Given the description of an element on the screen output the (x, y) to click on. 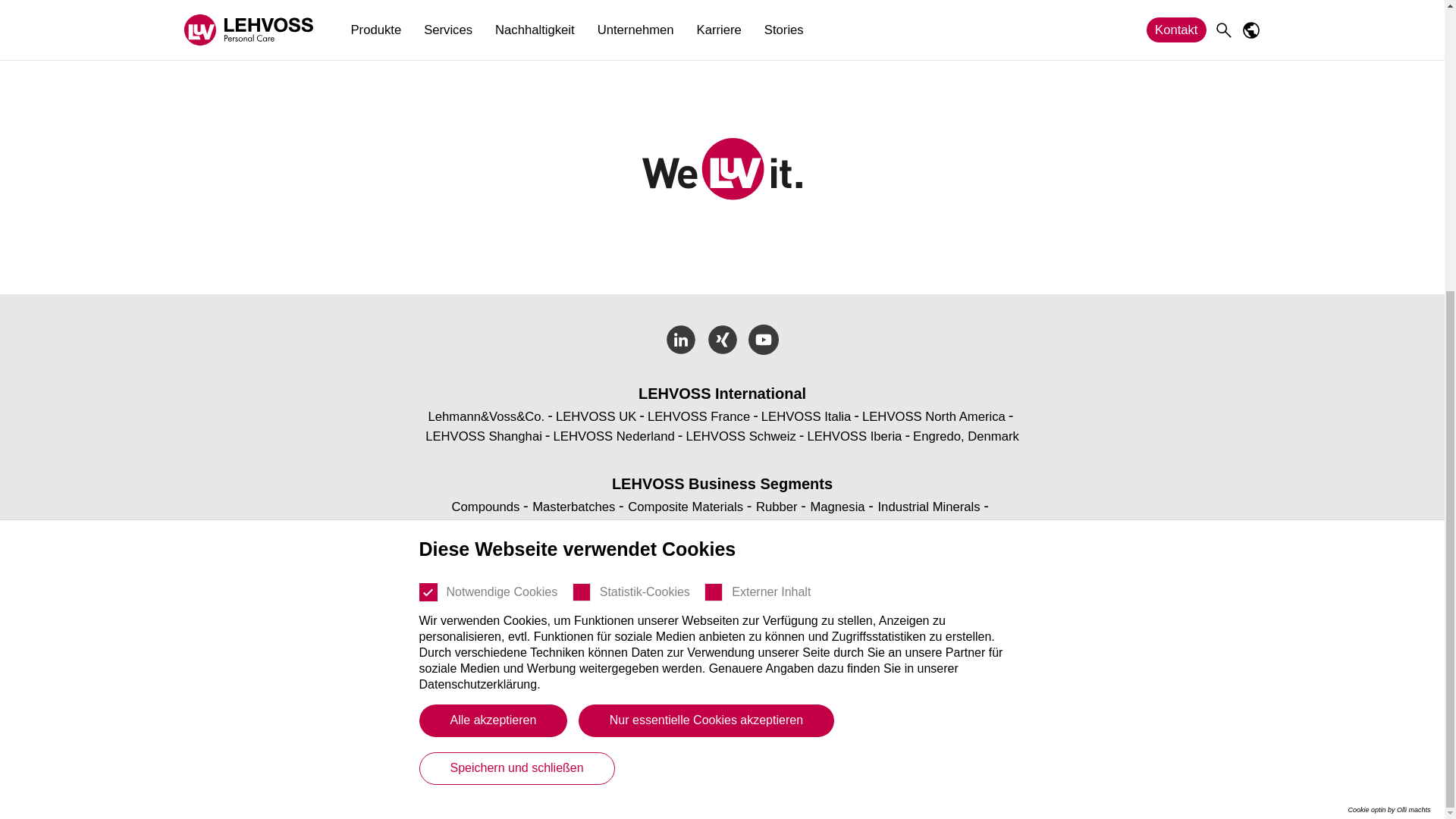
group-59 (427, 147)
group-54 (581, 147)
group-64 (713, 147)
